Given the description of an element on the screen output the (x, y) to click on. 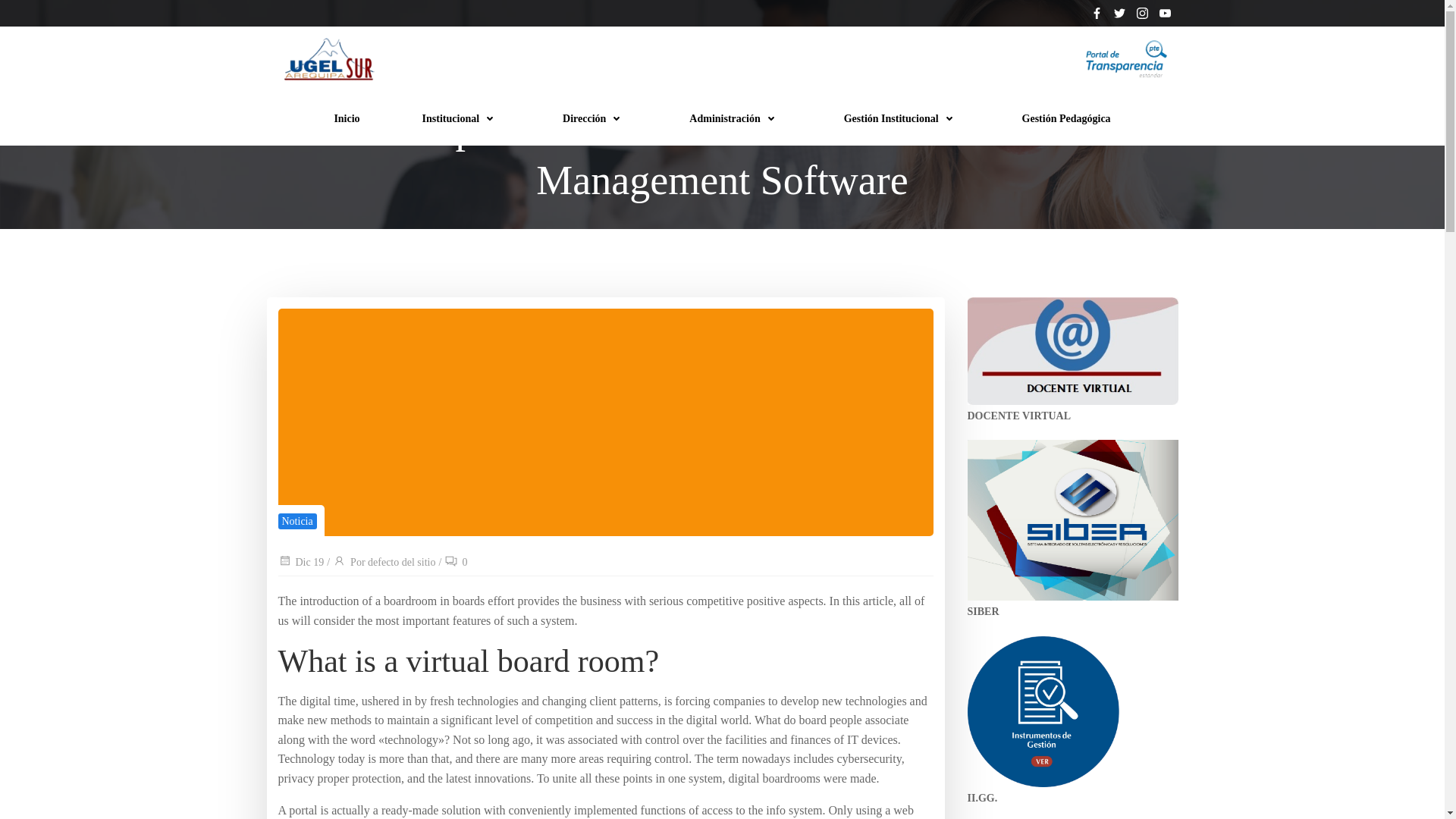
Por defecto del sitio (384, 562)
Inicio (346, 118)
Institucional (461, 118)
Noticia (296, 521)
Dic 19 (300, 562)
0 (455, 562)
